Given the description of an element on the screen output the (x, y) to click on. 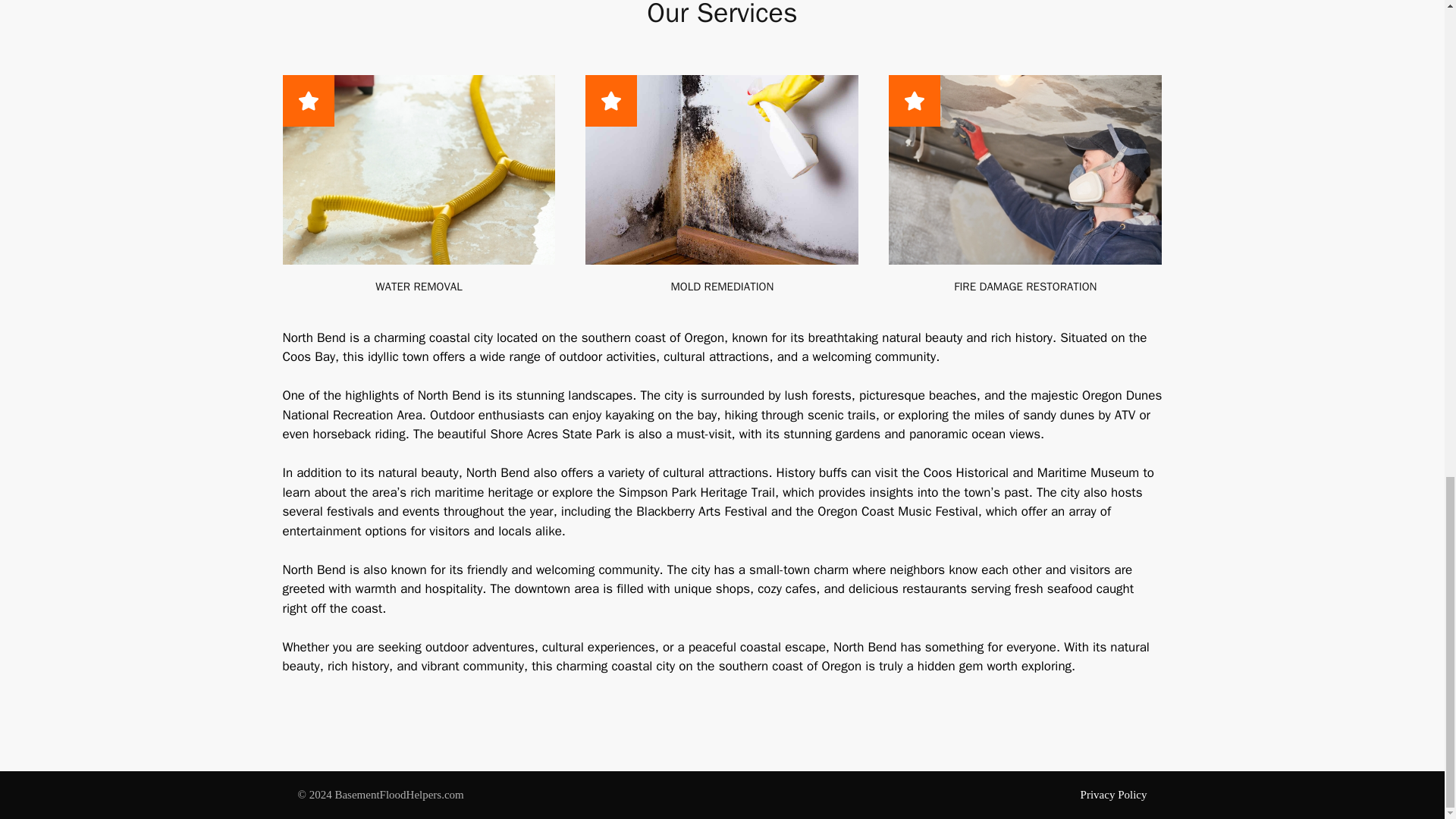
Privacy Policy (1113, 794)
